Given the description of an element on the screen output the (x, y) to click on. 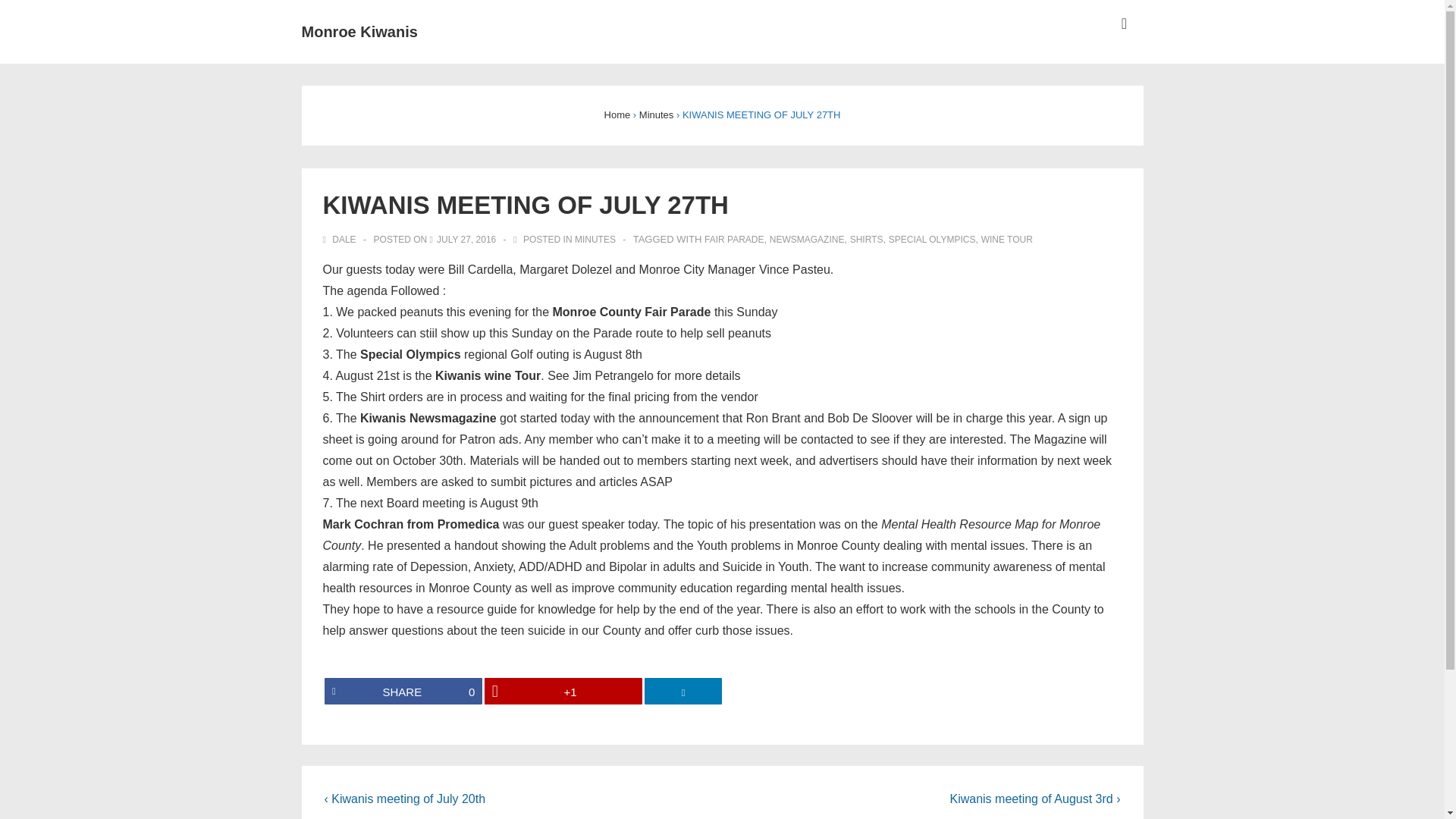
JULY 27, 2016 (402, 691)
Share on Linkedin (466, 239)
SPECIAL OLYMPICS (683, 691)
Home (931, 239)
Share on Facebook (617, 114)
Minutes (402, 691)
NEWSMAGAZINE (656, 114)
View all posts by Dale (807, 239)
MINUTES (340, 239)
SHIRTS (595, 239)
DALE (866, 239)
Monroe Kiwanis (340, 239)
KIWANIS MEETING OF JULY 27TH (359, 31)
WINE TOUR (466, 239)
